Given the description of an element on the screen output the (x, y) to click on. 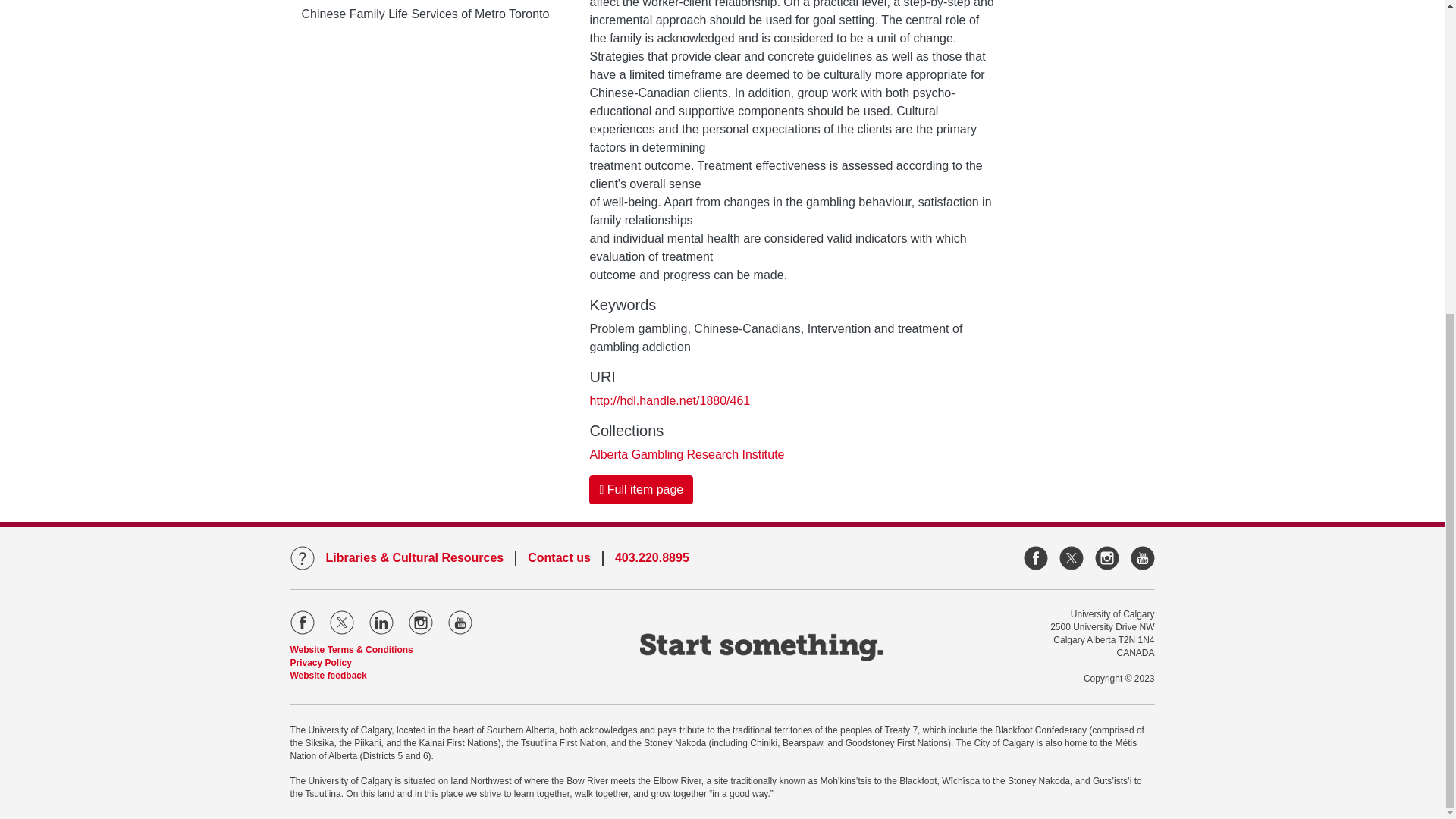
Contact us (559, 558)
403.220.8895 (651, 558)
Alberta Gambling Research Institute (686, 454)
Full item page (641, 489)
